Given the description of an element on the screen output the (x, y) to click on. 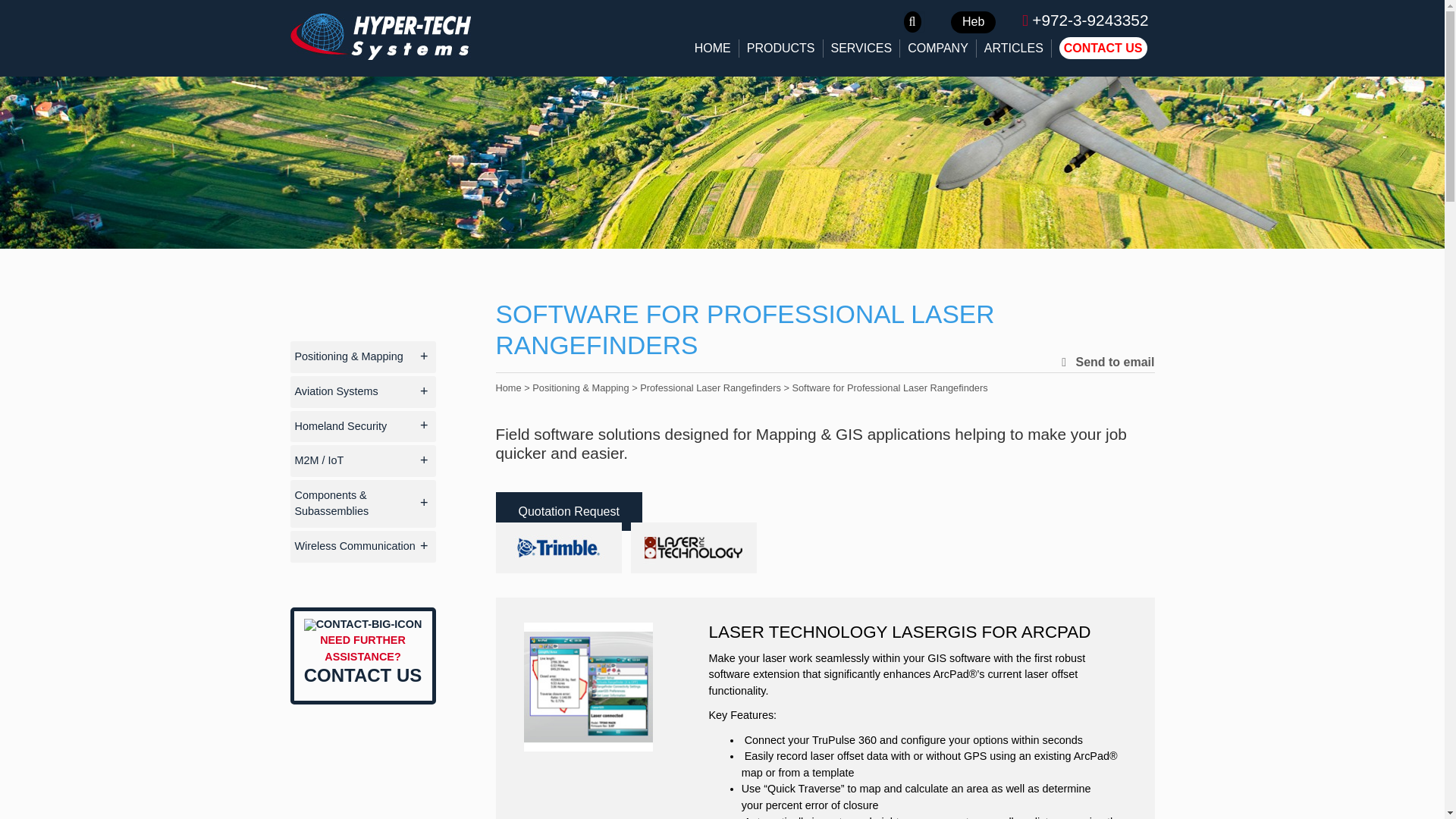
Home (508, 387)
Professional Laser Rangefinders (710, 387)
Search for: (914, 21)
Heb (972, 22)
SERVICES (861, 48)
ARTICLES (1013, 48)
HOME (712, 48)
Search (38, 15)
